Given the description of an element on the screen output the (x, y) to click on. 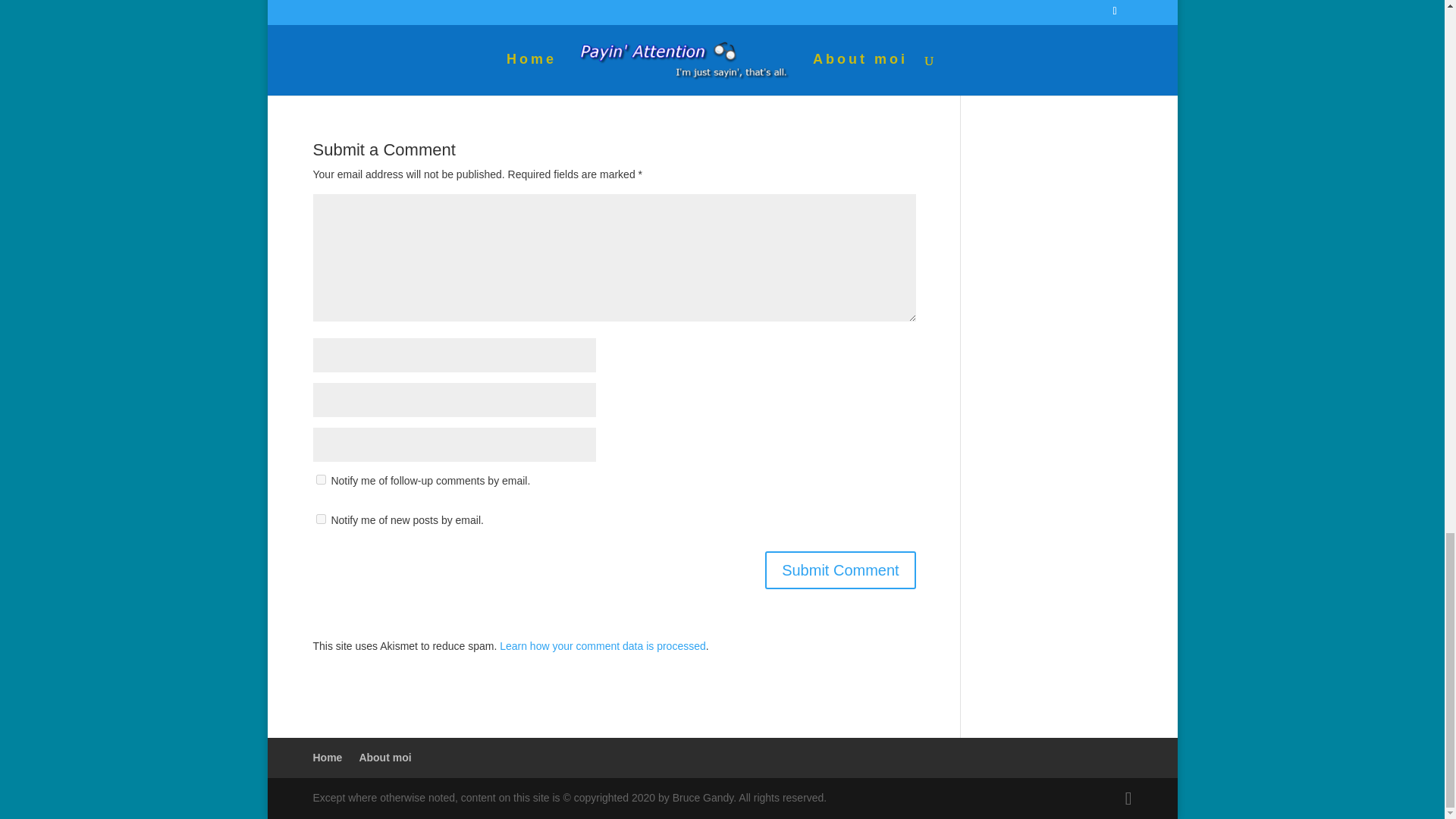
Learn how your comment data is processed (602, 645)
Reply (879, 19)
Gabriele Toyota (433, 6)
Submit Comment (840, 569)
Home (327, 757)
Submit Comment (840, 569)
subscribe (319, 479)
subscribe (319, 519)
